Given the description of an element on the screen output the (x, y) to click on. 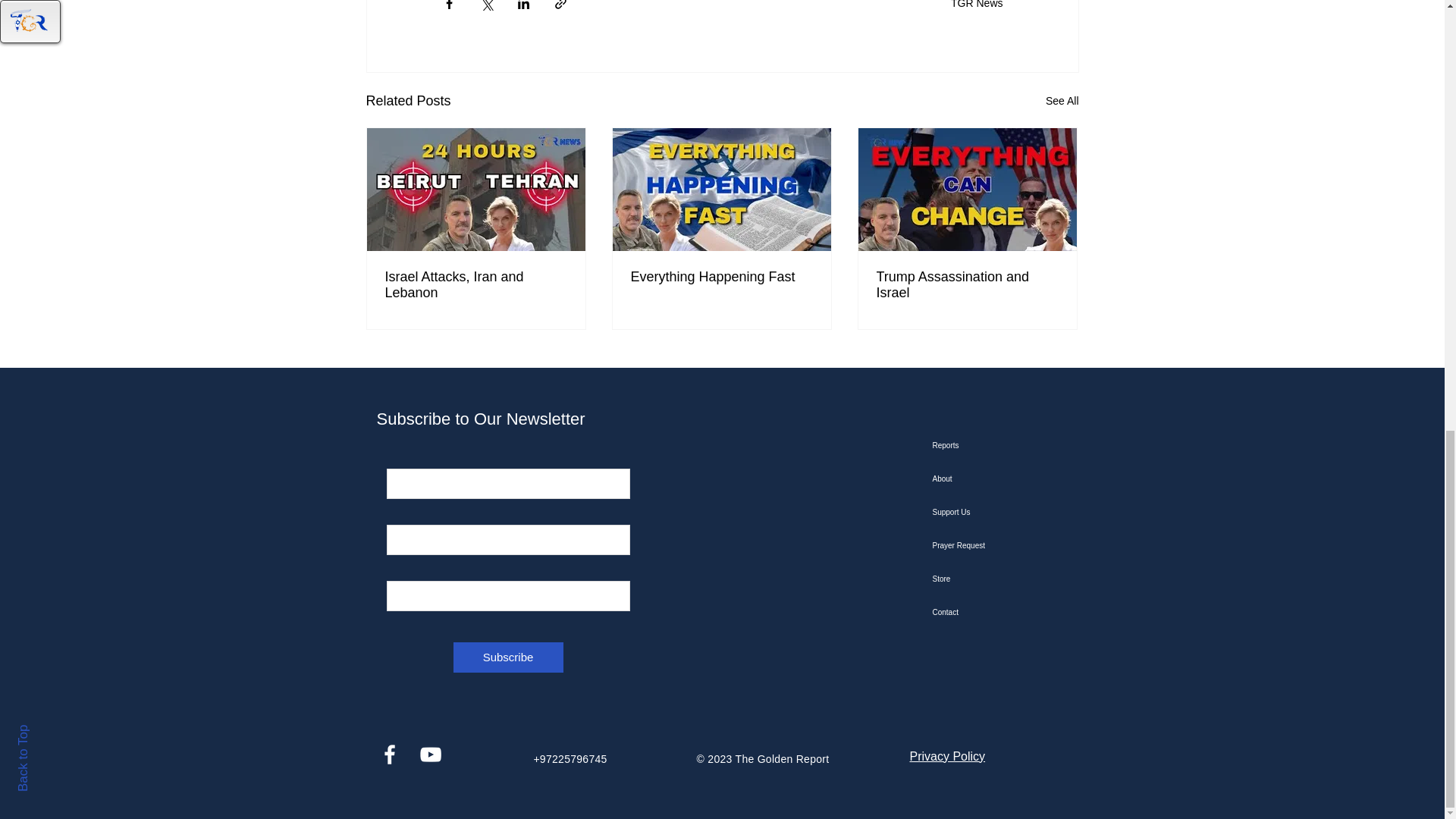
Trump Assassination and Israel (967, 285)
Israel Attacks, Iran and Lebanon (476, 285)
Everything Happening Fast (721, 277)
Subscribe (507, 657)
See All (1061, 101)
TGR News (976, 4)
Reports (1009, 445)
